Given the description of an element on the screen output the (x, y) to click on. 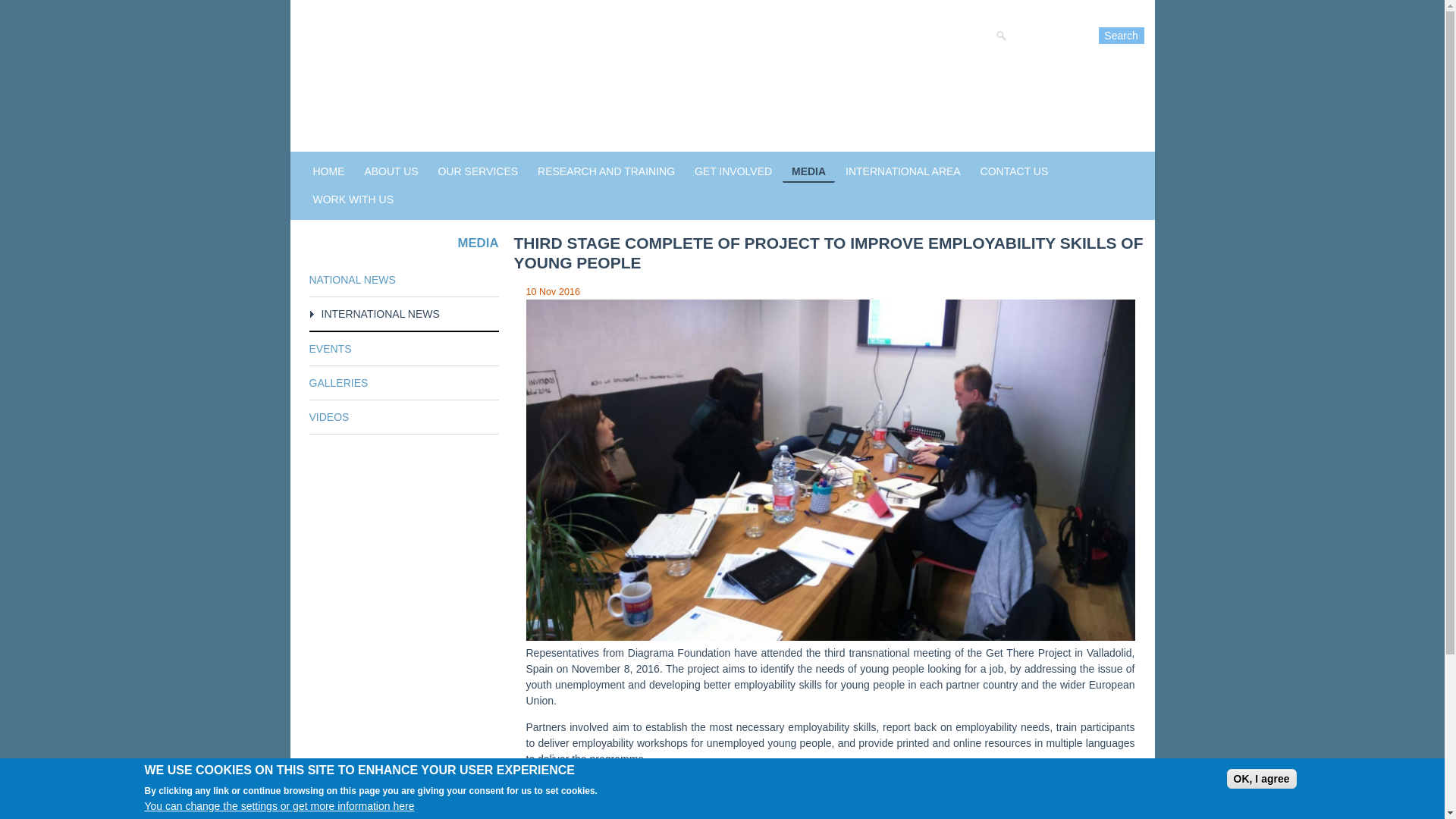
HOME (327, 171)
MEDIA (808, 171)
OUR SERVICES (478, 171)
ABOUT US (390, 171)
Search (1119, 35)
Search (1119, 35)
INTERNATIONAL AREA (902, 171)
GET INVOLVED (732, 171)
Enter the terms you wish to search for. (1045, 35)
RESEARCH AND TRAINING (606, 171)
